Given the description of an element on the screen output the (x, y) to click on. 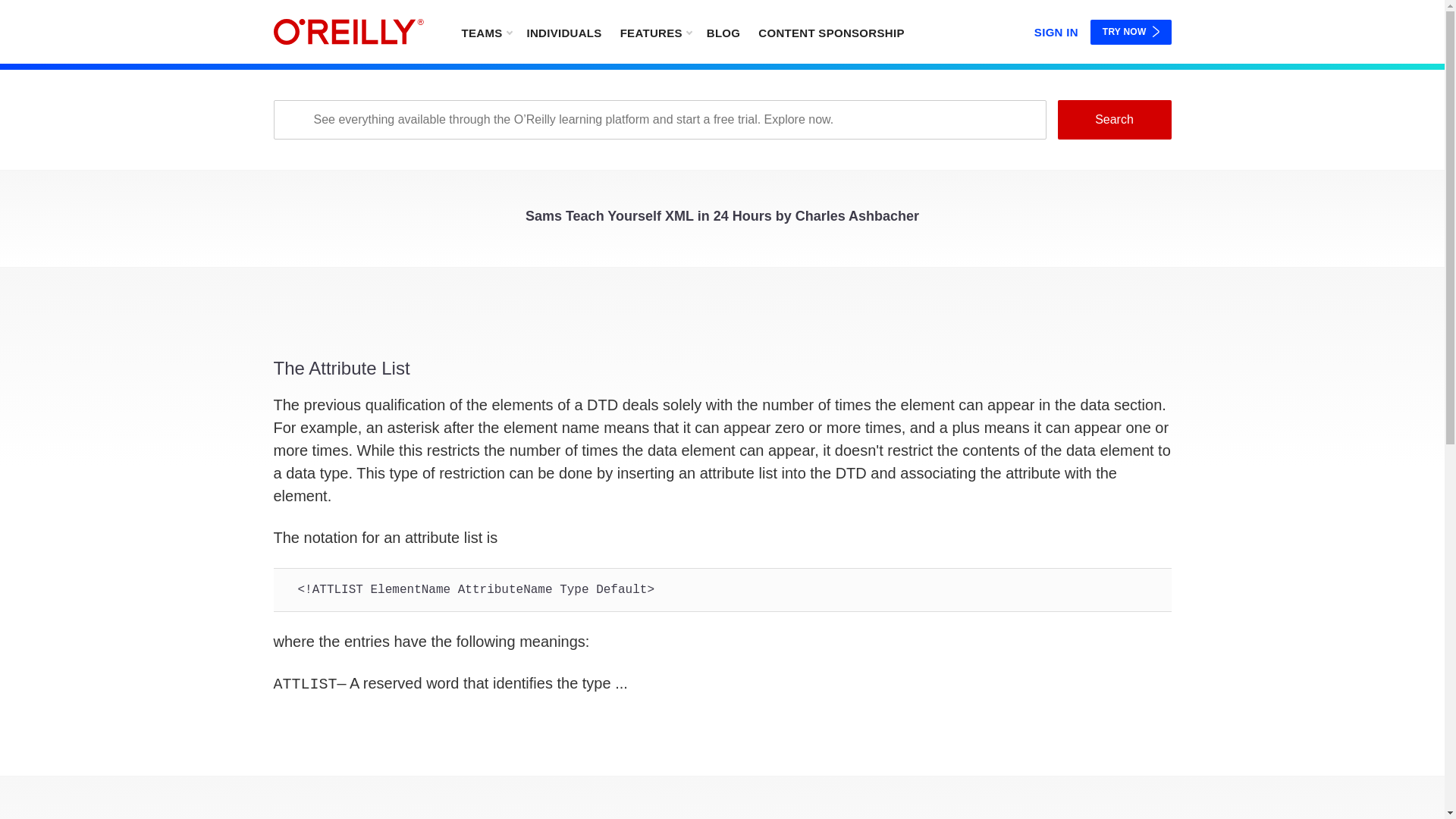
FEATURES (655, 31)
CONTENT SPONSORSHIP (831, 31)
INDIVIDUALS (563, 31)
home page (348, 31)
Search (1113, 119)
Search (1113, 119)
BLOG (723, 31)
Sams Teach Yourself XML in 24 Hours by Charles Ashbacher (721, 219)
SIGN IN (1055, 29)
TRY NOW (1131, 32)
Search (1113, 119)
TEAMS (486, 31)
